Given the description of an element on the screen output the (x, y) to click on. 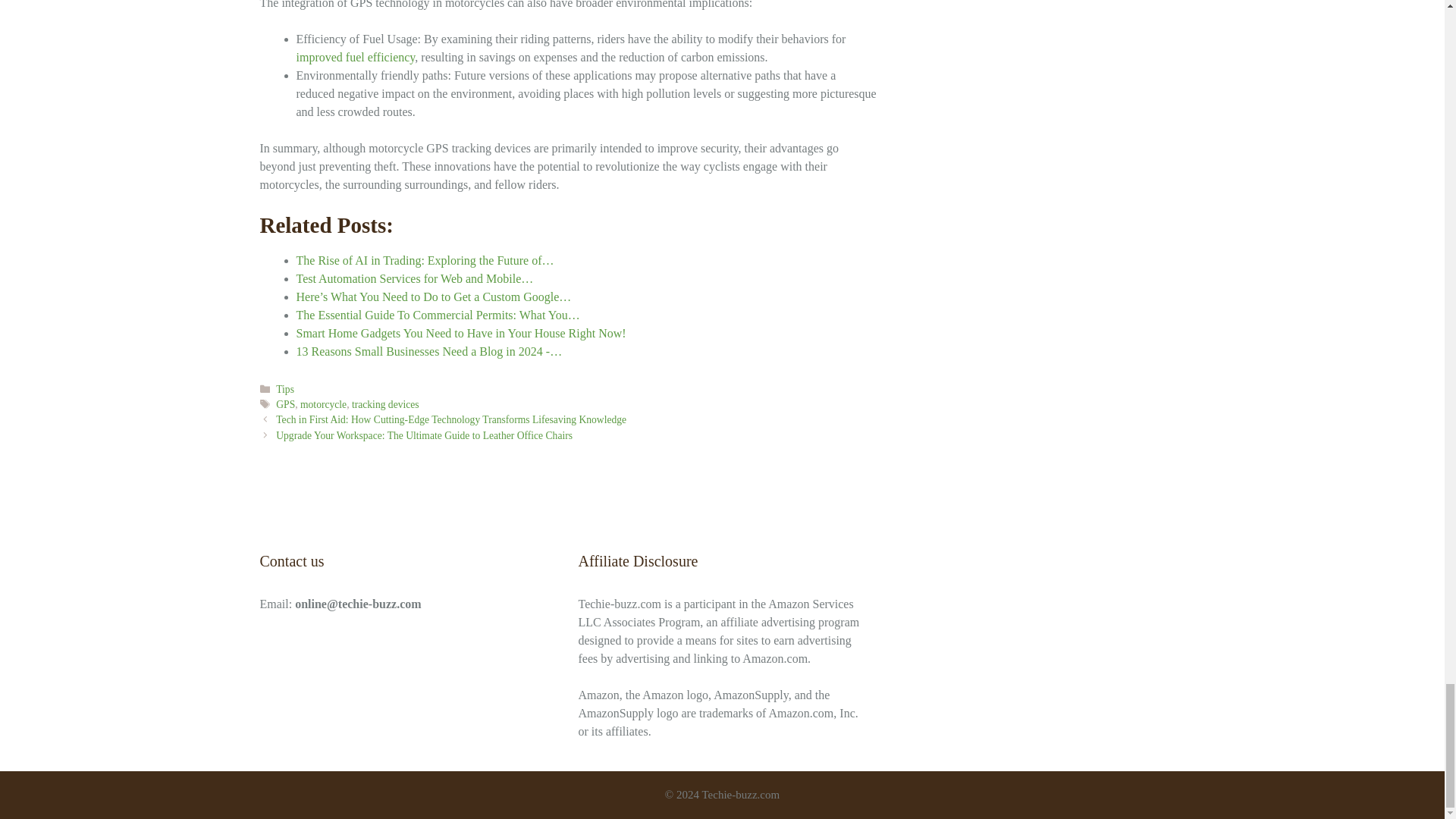
tracking devices (385, 404)
improved fuel efficiency (354, 56)
Smart Home Gadgets You Need to Have in Your House Right Now! (460, 332)
motorcycle (322, 404)
GPS (285, 404)
Tips (285, 389)
